Given the description of an element on the screen output the (x, y) to click on. 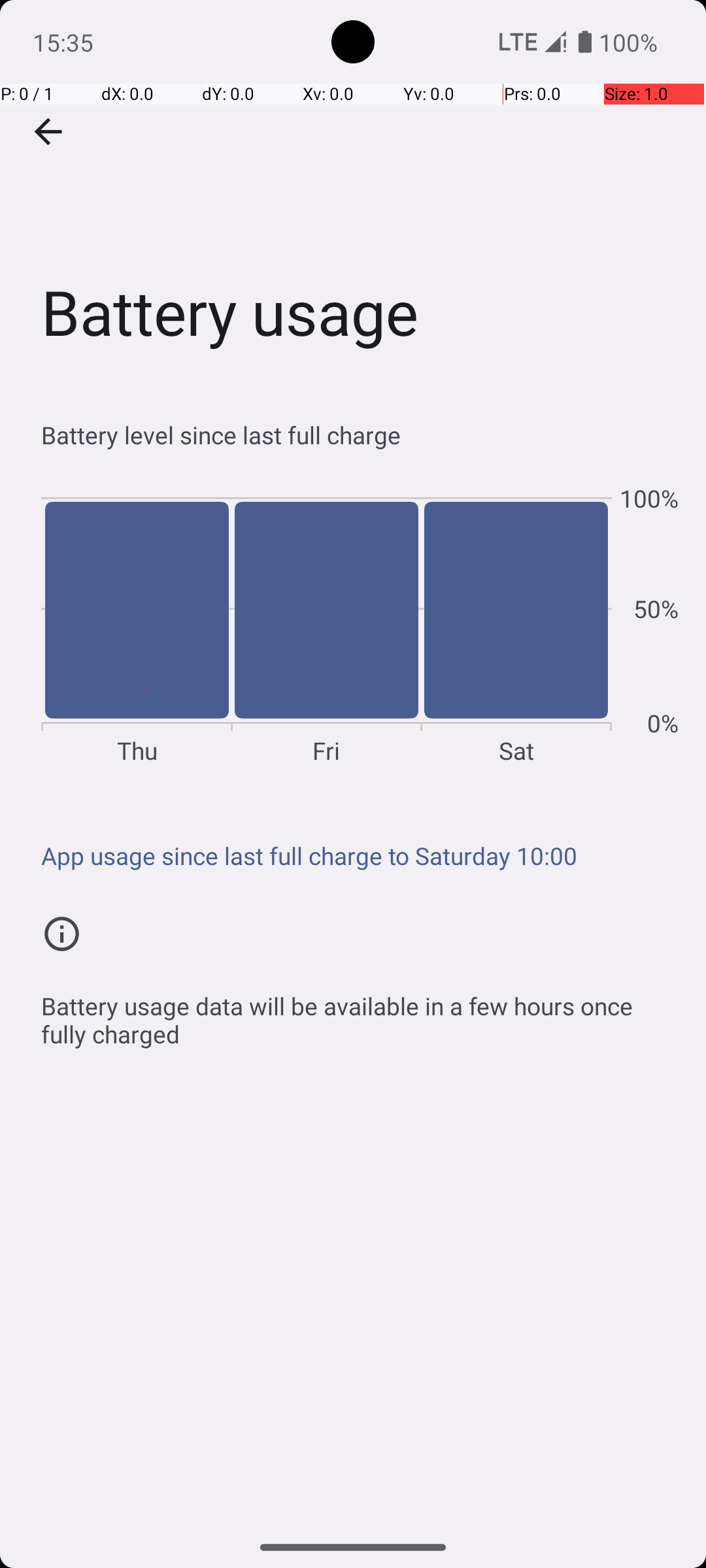
Battery usage Element type: android.widget.FrameLayout (353, 195)
Battery level since last full charge Element type: android.widget.TextView (359, 434)
App usage since last full charge to Saturday 10:00 Element type: android.widget.TextView (359, 855)
Battery usage data will be available in a few hours once fully charged Element type: android.widget.TextView (359, 1012)
Saturday Element type: android.widget.ImageView (515, 624)
